Given the description of an element on the screen output the (x, y) to click on. 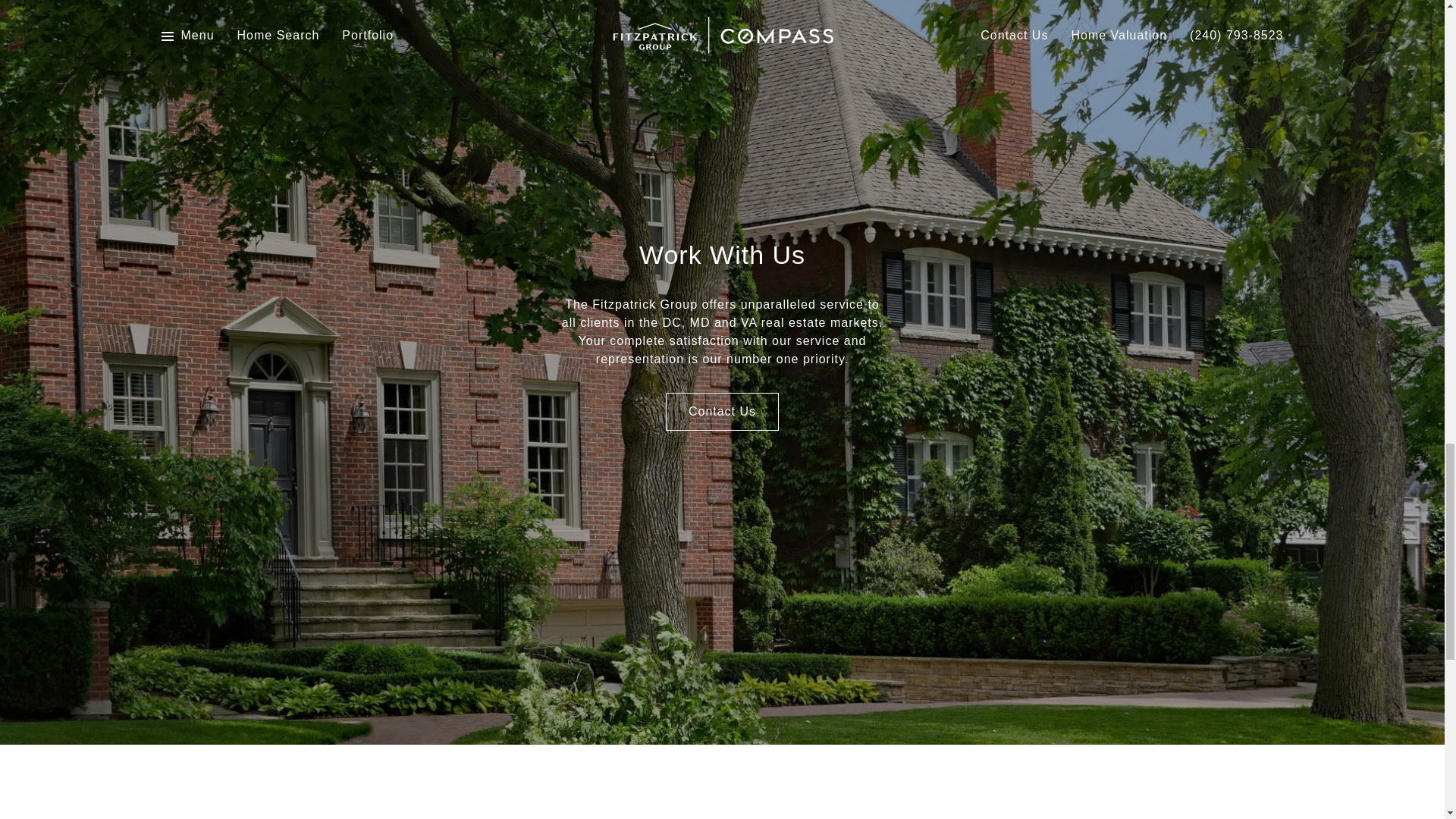
Contact Us (721, 411)
